Given the description of an element on the screen output the (x, y) to click on. 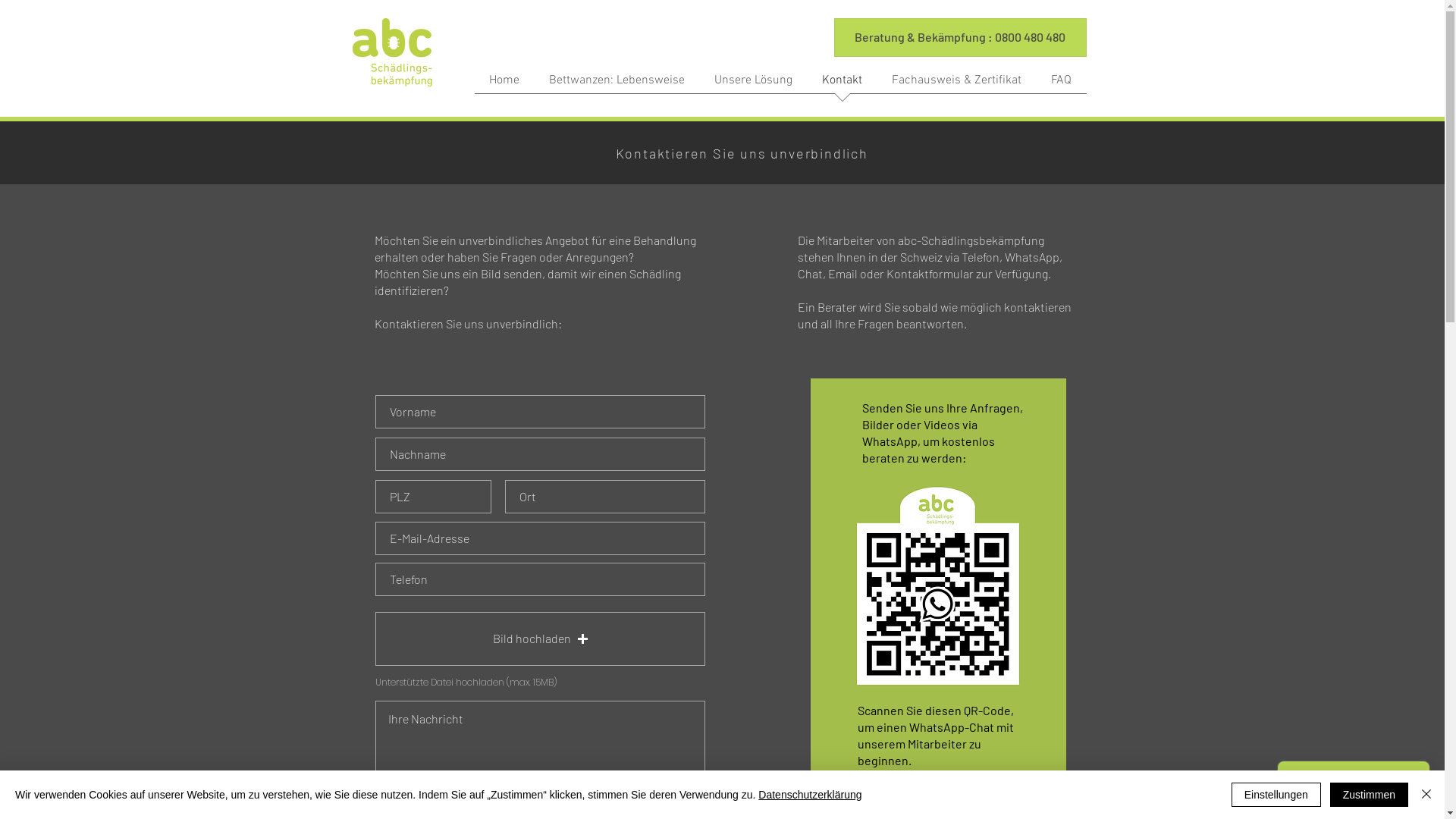
Home Element type: text (504, 85)
Bettwanzen: Lebensweise Element type: text (616, 85)
Zustimmen Element type: text (1369, 794)
Fachausweis & Zertifikat Element type: text (955, 85)
Kontakt Element type: text (841, 85)
Einstellungen Element type: text (1276, 794)
FAQ Element type: text (1060, 85)
